Given the description of an element on the screen output the (x, y) to click on. 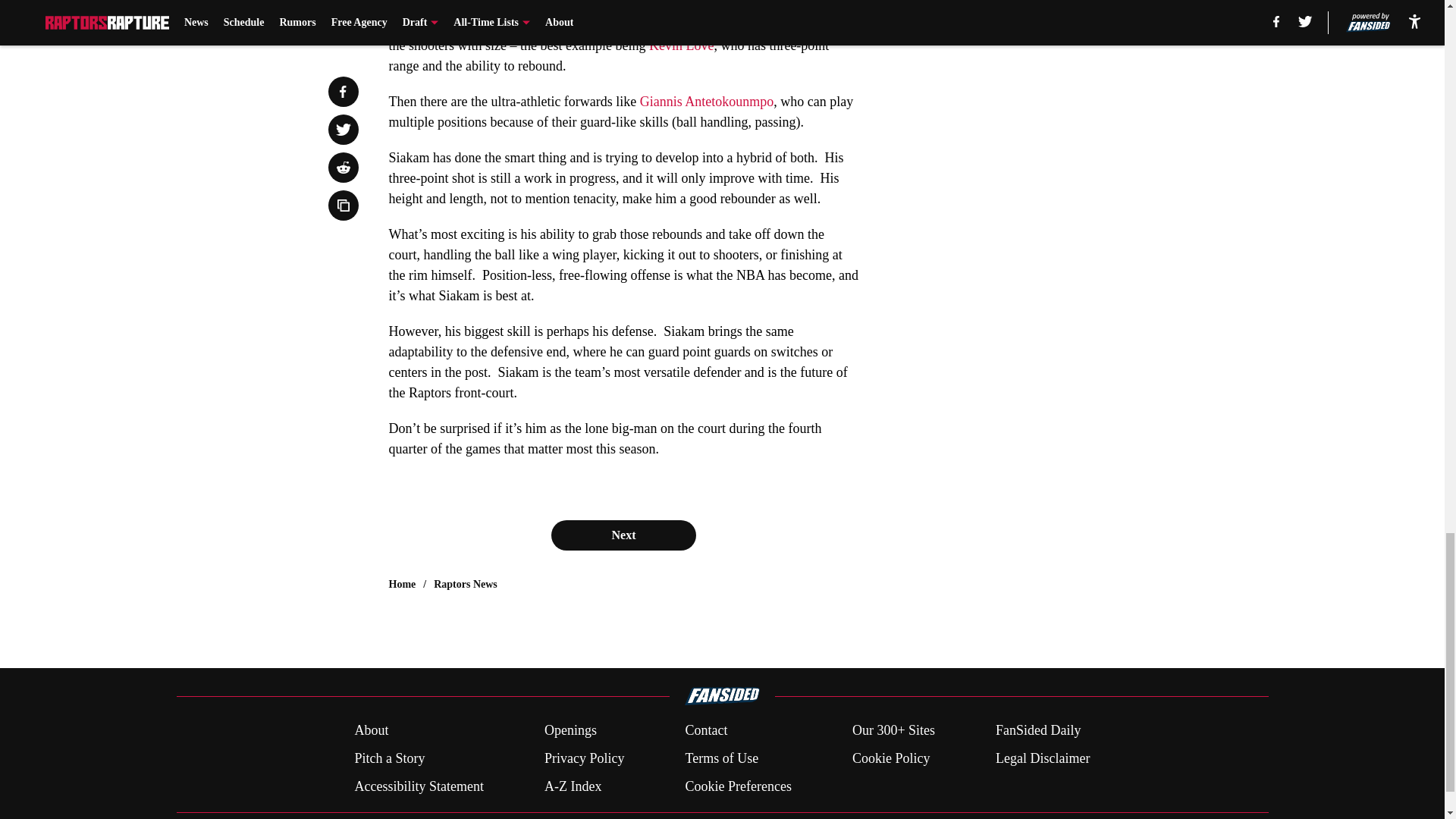
About (370, 730)
Kevin Love (681, 45)
Giannis Antetokounmpo (707, 101)
Raptors News (465, 584)
Home (401, 584)
Next (622, 535)
